Given the description of an element on the screen output the (x, y) to click on. 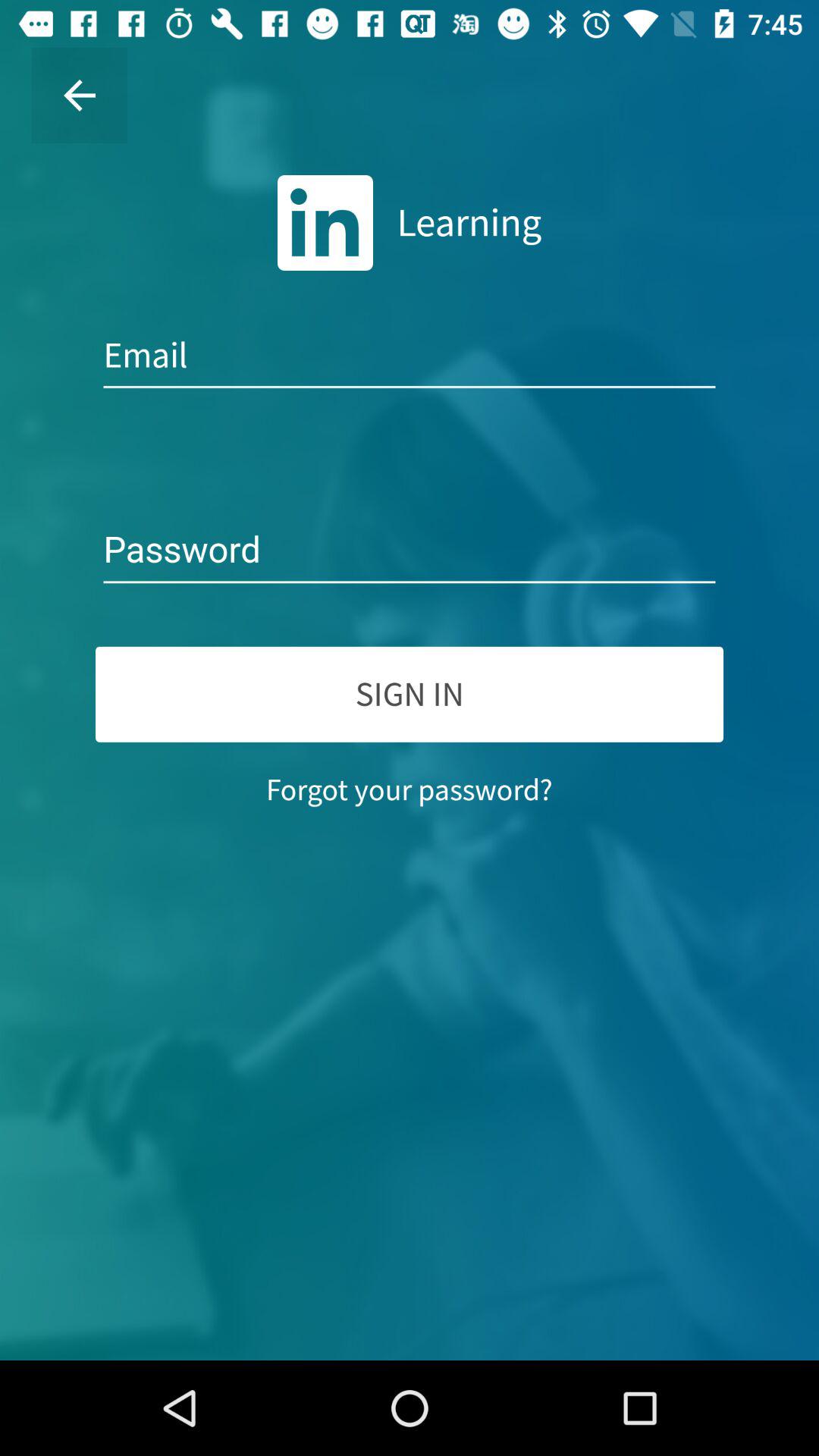
turn on the icon above the forgot your password? icon (409, 694)
